Given the description of an element on the screen output the (x, y) to click on. 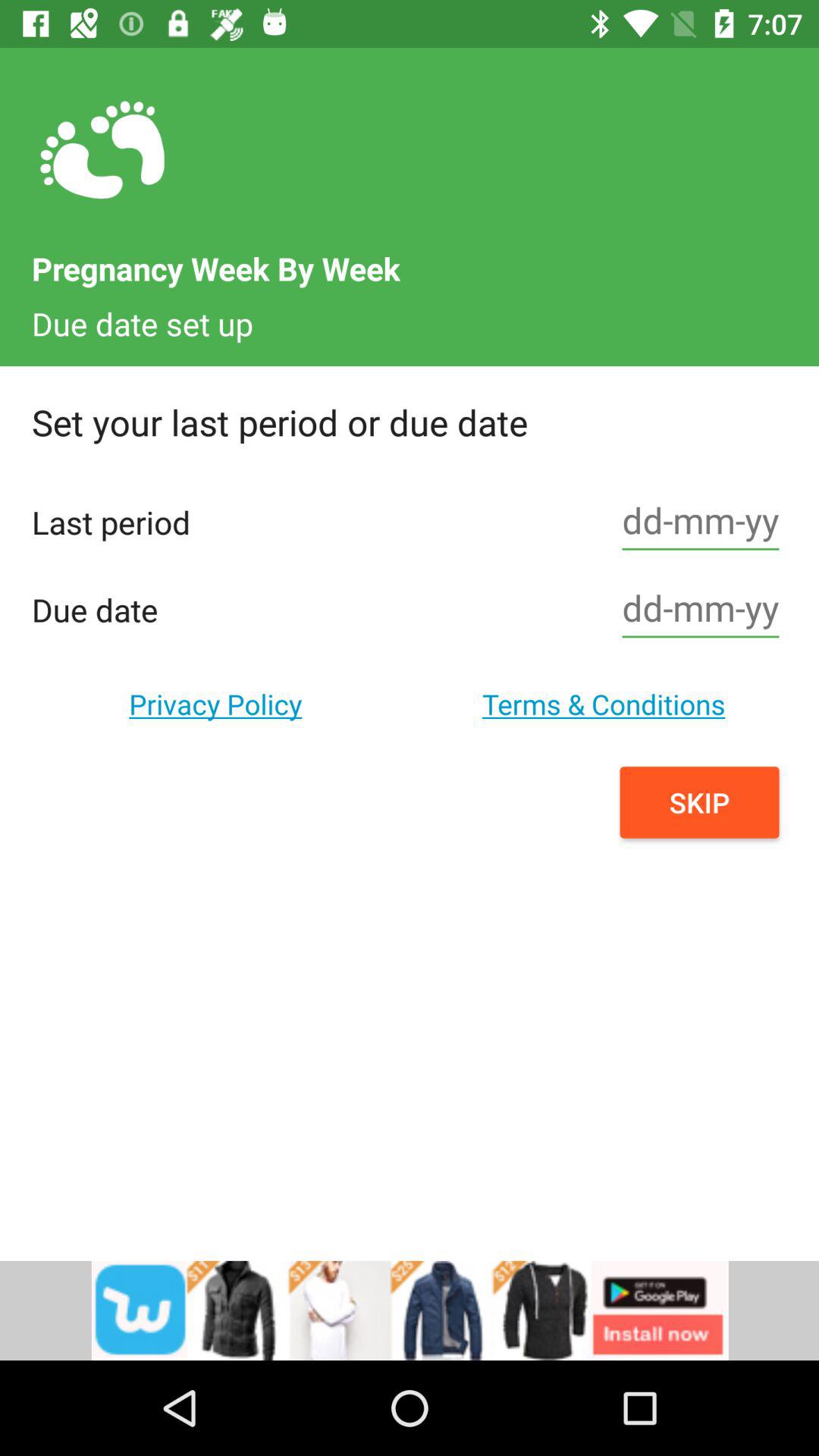
enter date (700, 521)
